Given the description of an element on the screen output the (x, y) to click on. 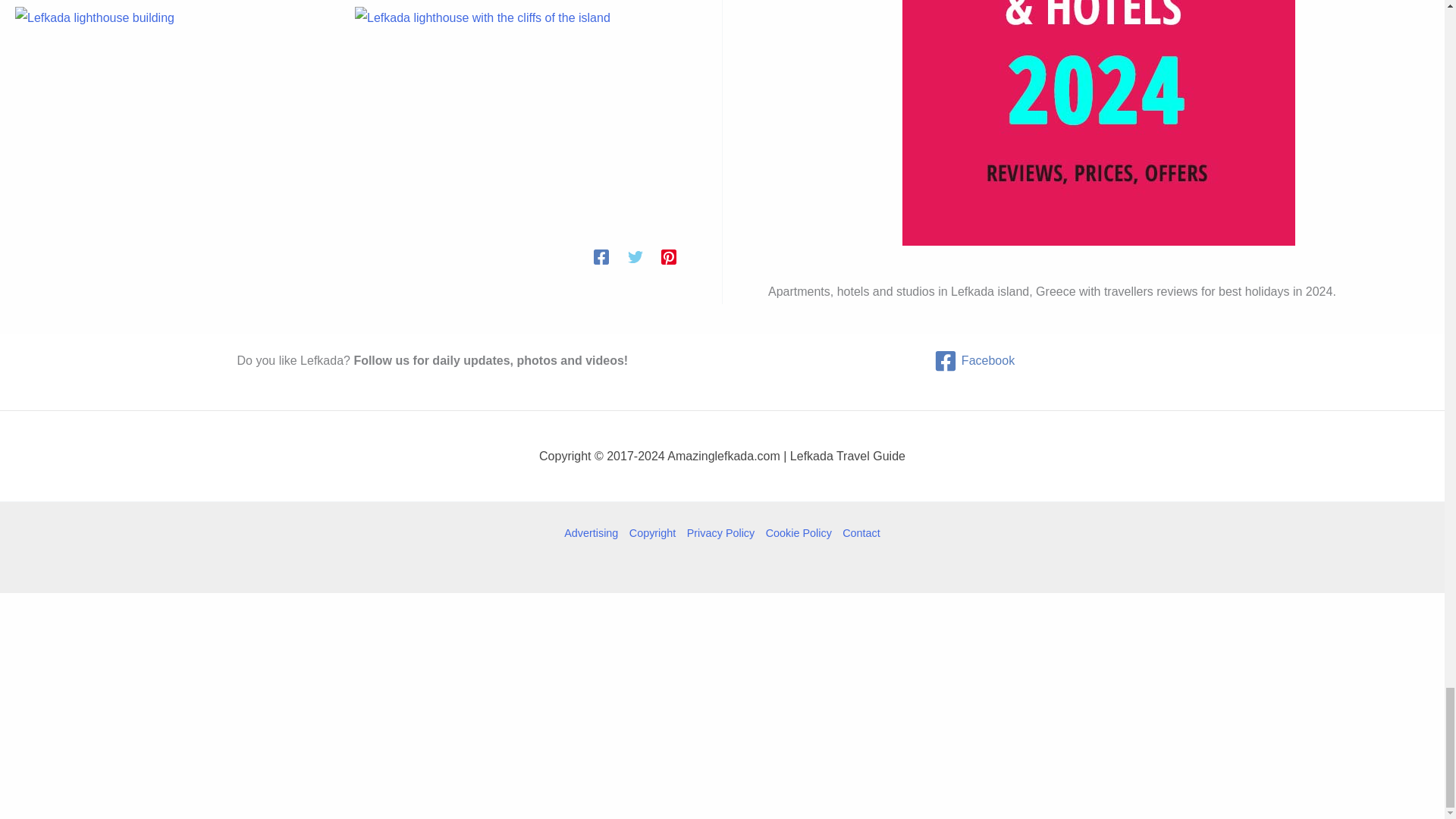
Lefkada lighthouse (516, 113)
Lefkada lighthouse (175, 113)
